Given the description of an element on the screen output the (x, y) to click on. 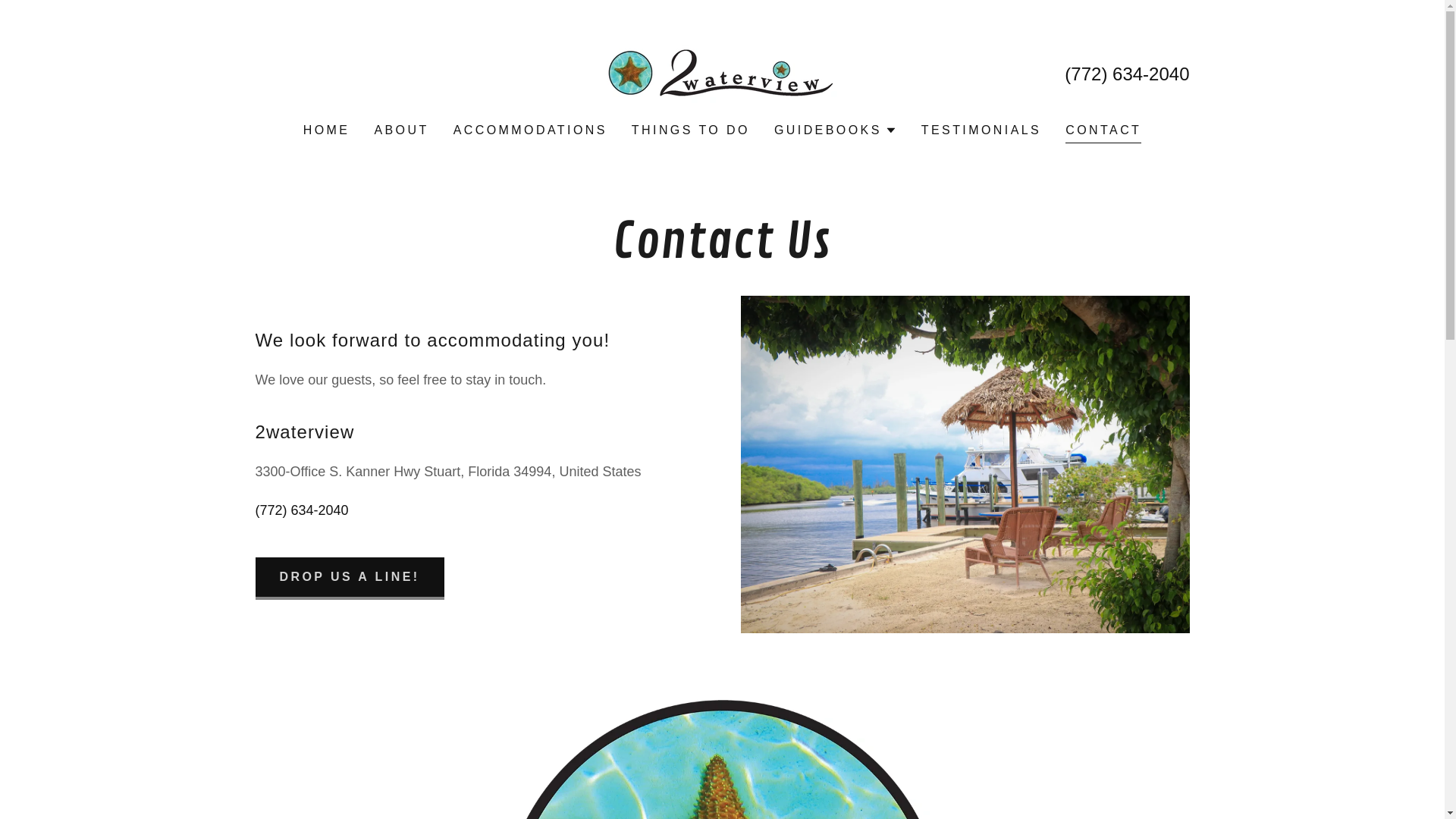
(772) 634-2040 Element type: text (301, 509)
ACCOMMODATIONS Element type: text (529, 130)
(772) 634-2040 Element type: text (1126, 73)
GUIDEBOOKS Element type: text (835, 130)
CONTACT Element type: text (1103, 132)
TESTIMONIALS Element type: text (980, 130)
HOME Element type: text (326, 130)
DROP US A LINE! Element type: text (348, 578)
ABOUT Element type: text (401, 130)
2waterview Element type: hover (721, 71)
THINGS TO DO Element type: text (690, 130)
